Given the description of an element on the screen output the (x, y) to click on. 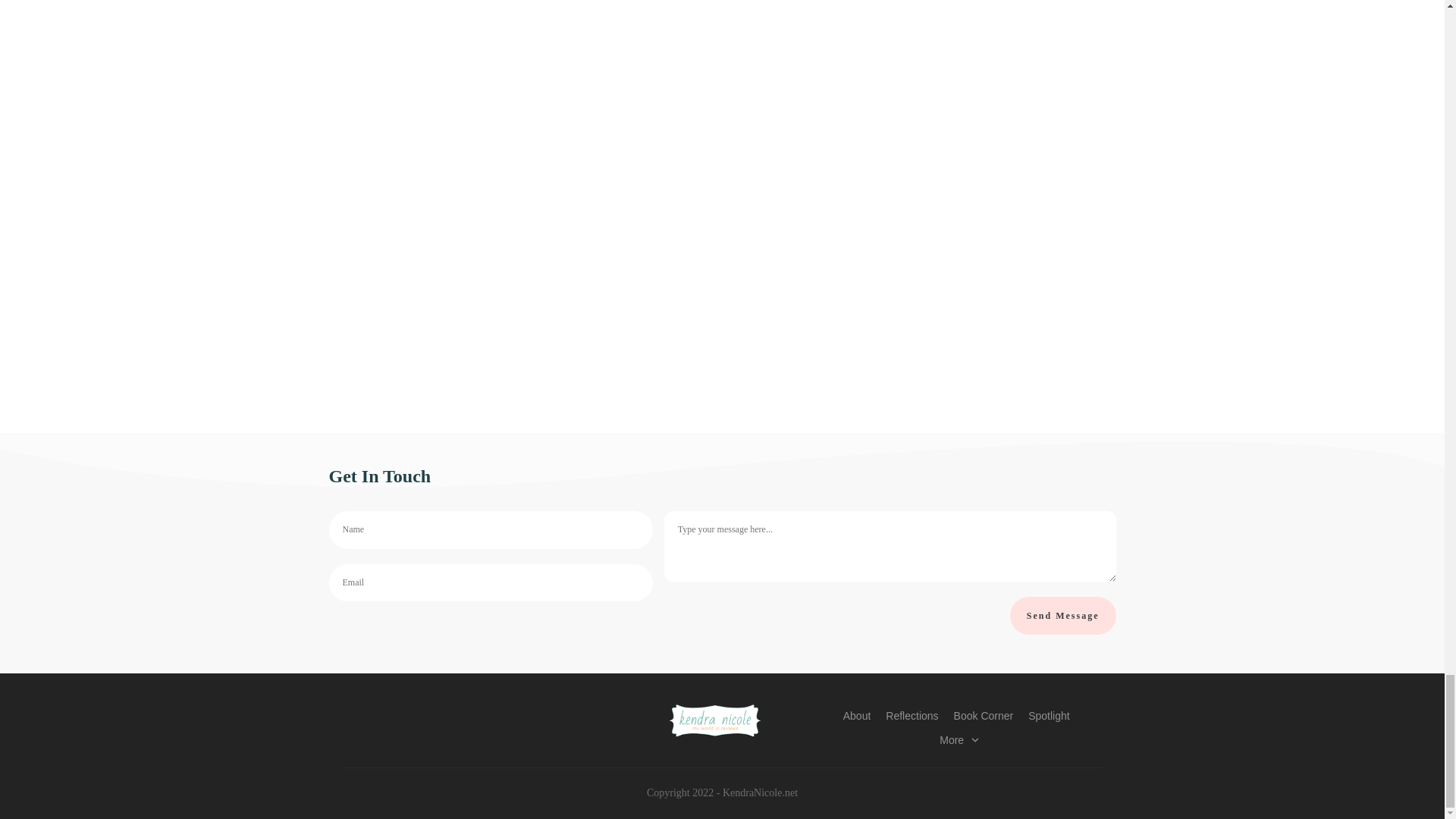
Reflections (911, 715)
Book Corner (983, 715)
Send Message (1063, 615)
About (856, 715)
Spotlight (1047, 715)
More (959, 740)
